Given the description of an element on the screen output the (x, y) to click on. 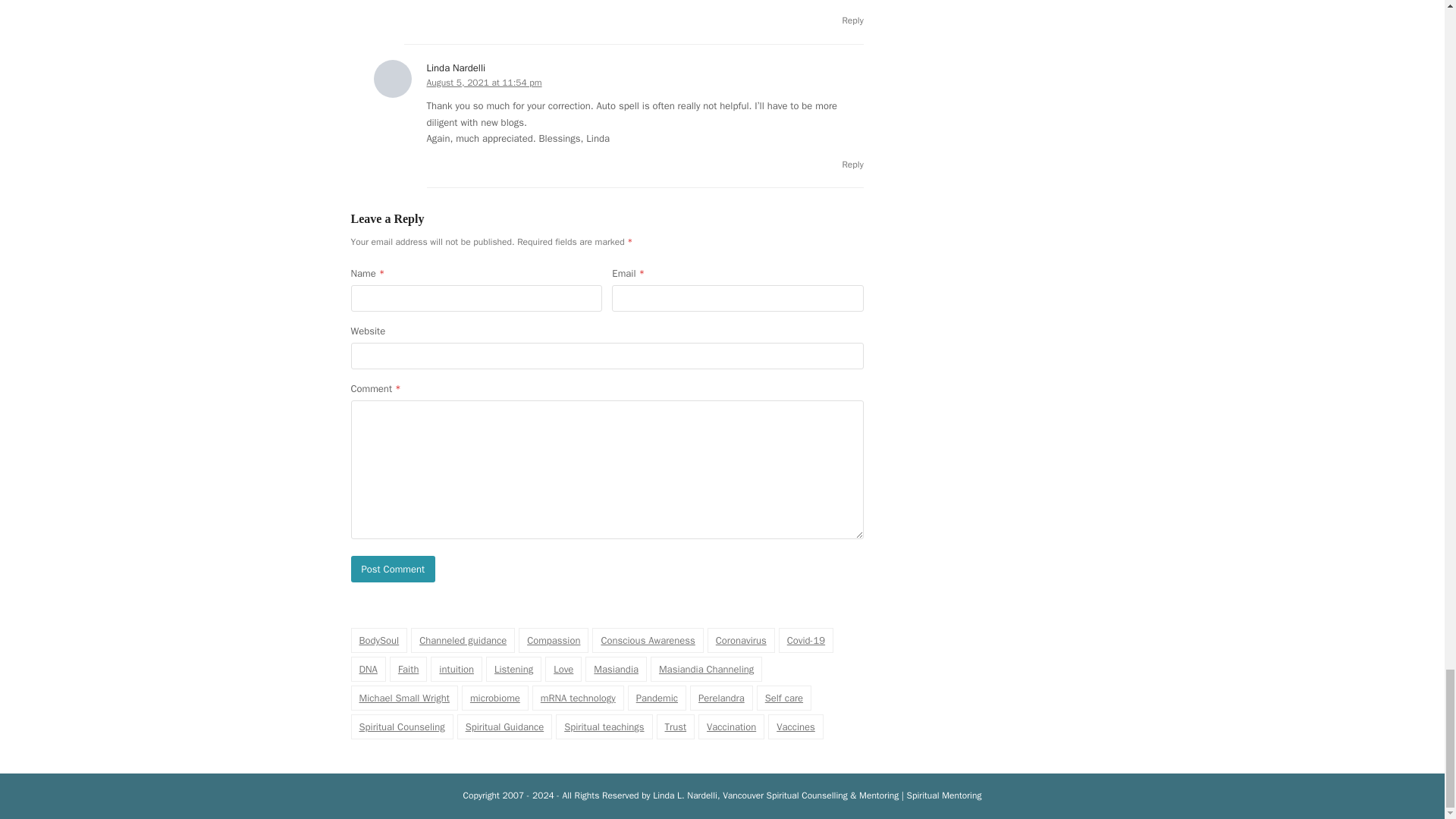
Post Comment (392, 569)
Reply (852, 20)
Reply (852, 164)
